Given the description of an element on the screen output the (x, y) to click on. 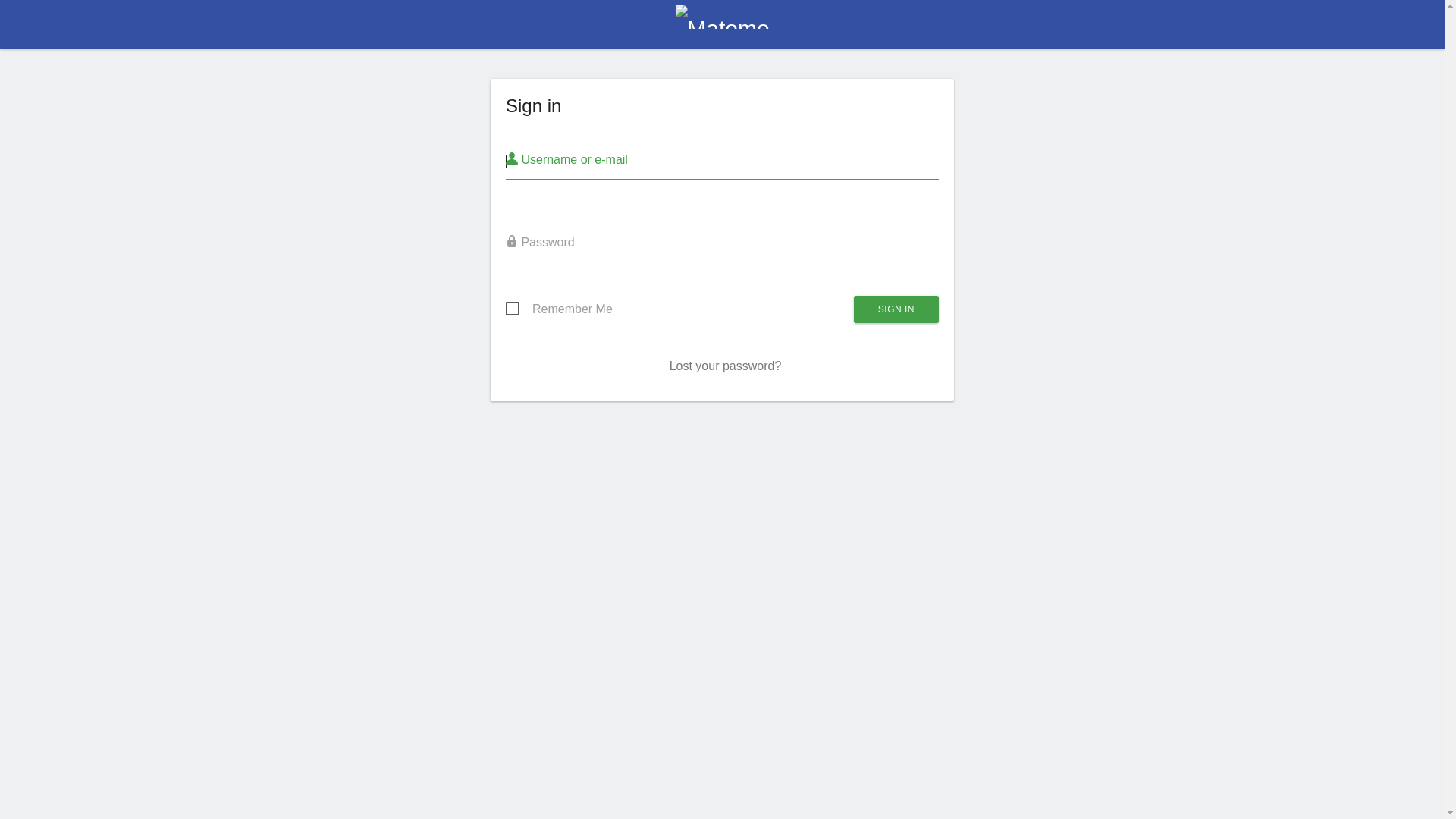
Matomo # free/libre analytics platform Element type: hover (721, 27)
Lost your password? Element type: text (725, 365)
Sign in Element type: text (895, 309)
